Given the description of an element on the screen output the (x, y) to click on. 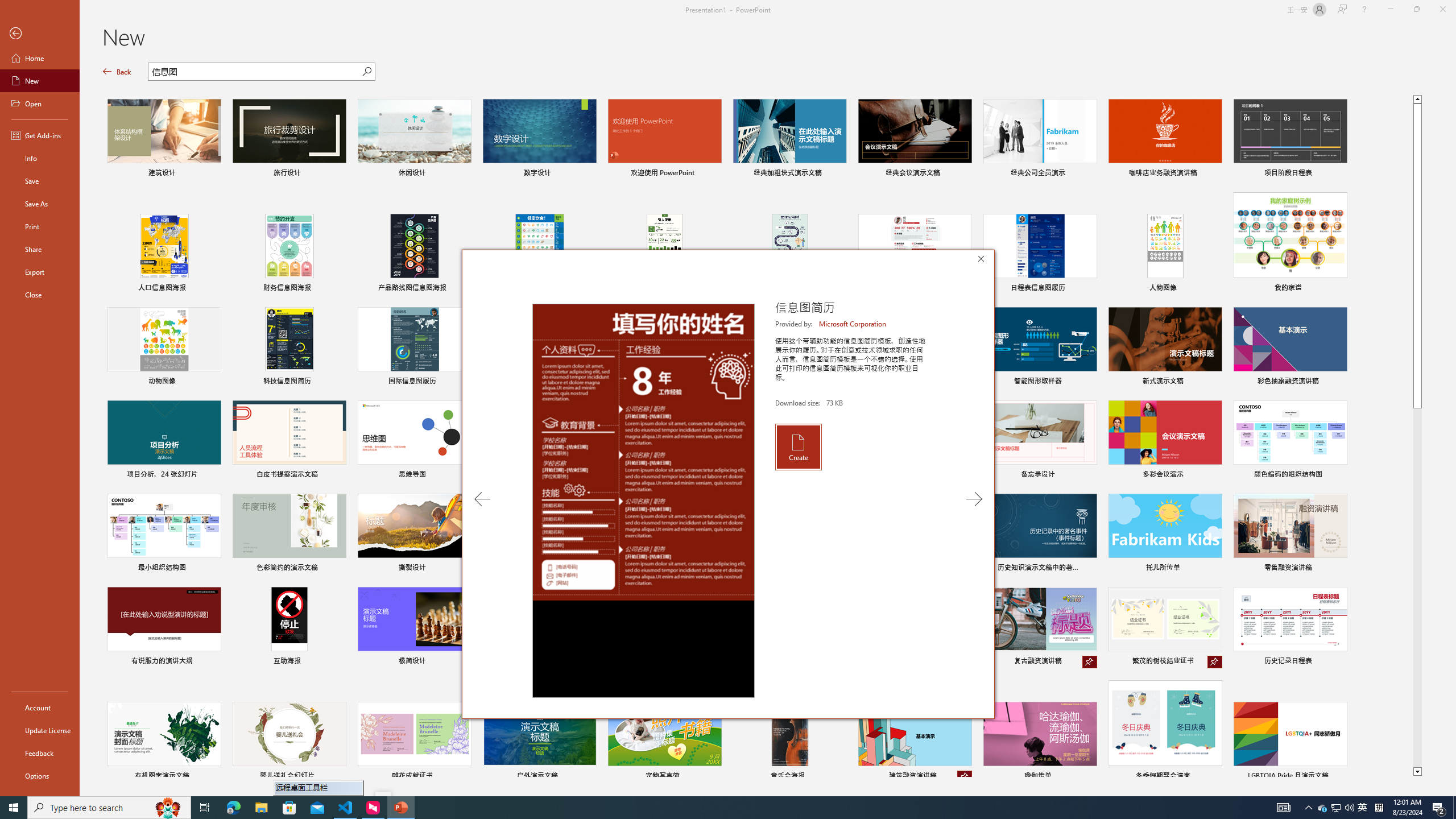
Type here to search (108, 807)
Microsoft Edge (233, 807)
Class: NetUIScrollBar (1450, 428)
Page down (1417, 587)
Start (13, 807)
PowerPoint - 1 running window (400, 807)
Line up (1417, 98)
